Given the description of an element on the screen output the (x, y) to click on. 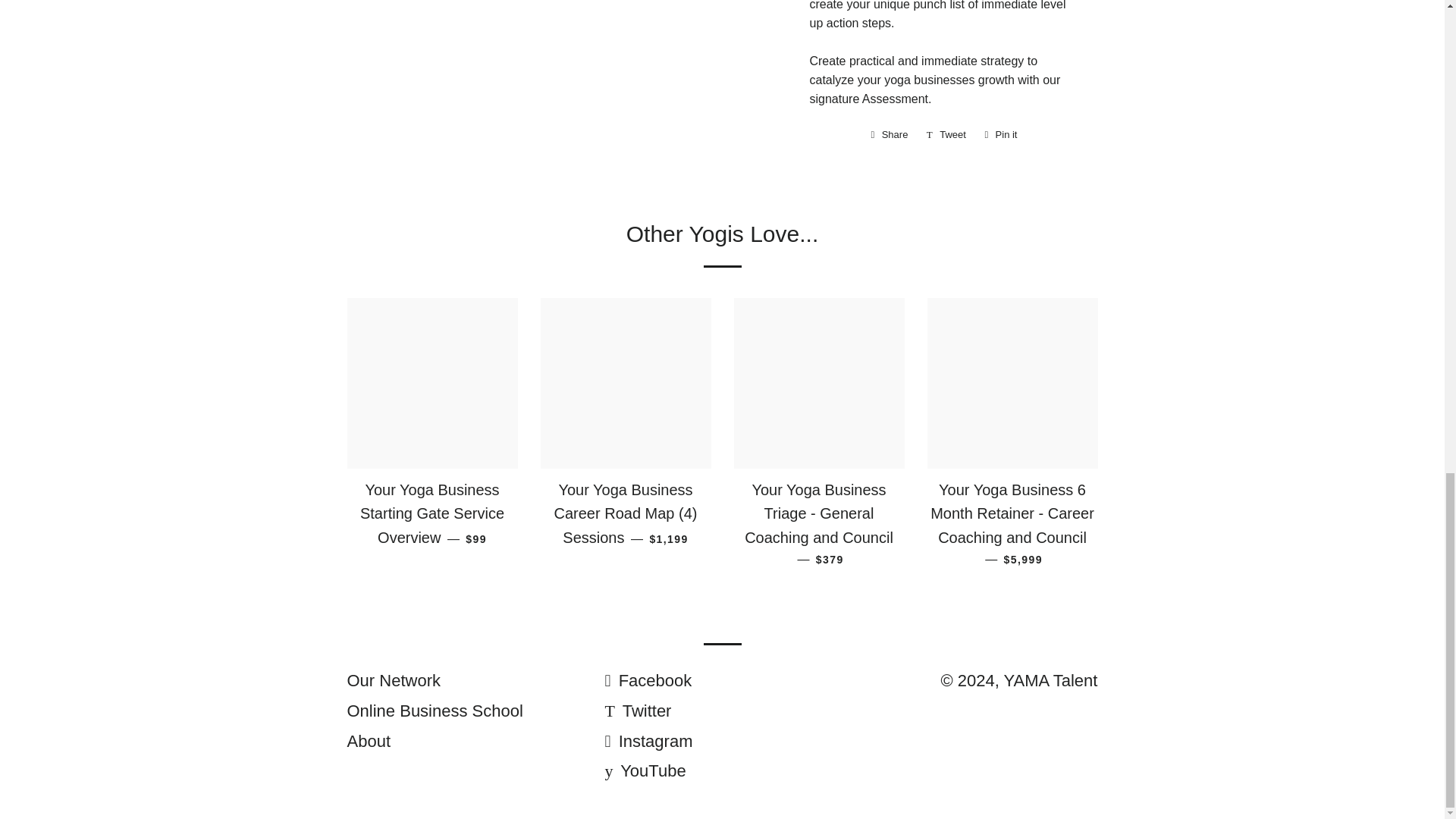
Pin on Pinterest (1000, 134)
YAMA Talent on Instagram (648, 741)
Tweet on Twitter (946, 134)
YAMA Talent on YouTube (644, 770)
YAMA Talent on Twitter (637, 710)
YAMA Talent on Facebook (647, 680)
Share on Facebook (889, 134)
